Given the description of an element on the screen output the (x, y) to click on. 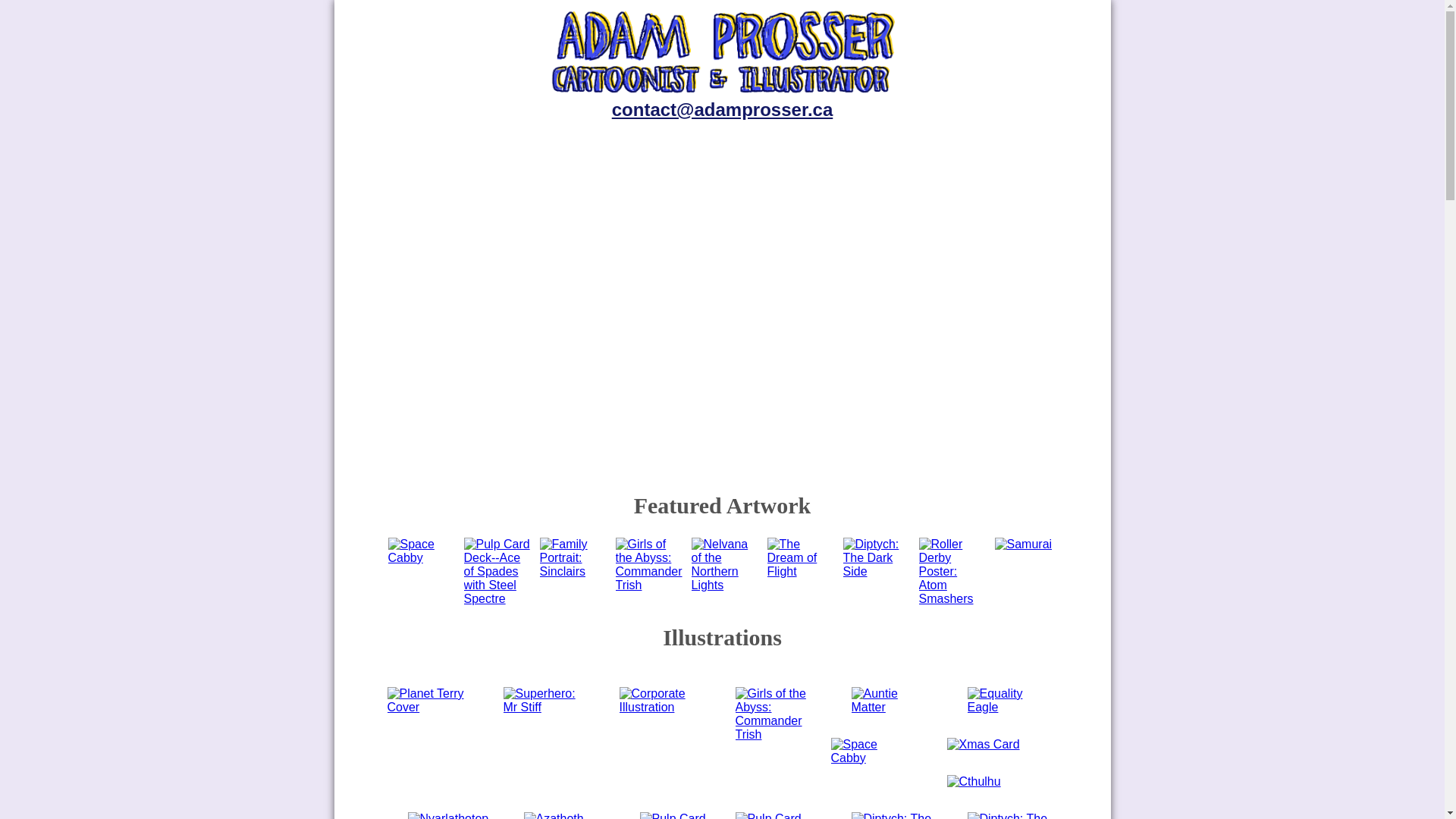
Contact Element type: text (880, 445)
Sketches Element type: text (914, 316)
The Dream of Flight Element type: hover (801, 570)
Samurai Element type: hover (1023, 543)
Roller Derby Poster: Atom Smashers Element type: hover (953, 598)
Samurai Element type: hover (1023, 544)
Skip to main content Element type: text (54, 0)
Pulp Card Deck--Ace of Spades with Steel Spectre Element type: hover (498, 571)
Girls of the Abyss: Commander Trish  Element type: hover (649, 584)
Family Portrait: Sinclairs Element type: hover (573, 570)
contact@adamprosser.ca Element type: text (722, 109)
Adam Prosser Cartoonist & Illustrator Element type: hover (722, 91)
Diptych: The Dark Side Element type: hover (877, 557)
Illustrations Element type: text (986, 252)
Comics Element type: text (944, 187)
Pulp Card Deck--Ace of Spades with Steel Spectre Element type: hover (498, 598)
About Element type: text (962, 381)
Nelvana of the Northern Lights Element type: hover (725, 584)
Space Cabby Element type: hover (422, 557)
The Dream of Flight Element type: hover (801, 557)
Roller Derby Poster: Atom Smashers Element type: hover (953, 571)
Girls of the Abyss: Commander Trish Element type: hover (649, 564)
Space Cabby Element type: hover (422, 550)
Family Portrait: Sinclairs Element type: hover (573, 557)
Diptych: The Dark Side Element type: hover (877, 570)
Nelvana of the Northern Lights Element type: hover (725, 564)
